Given the description of an element on the screen output the (x, y) to click on. 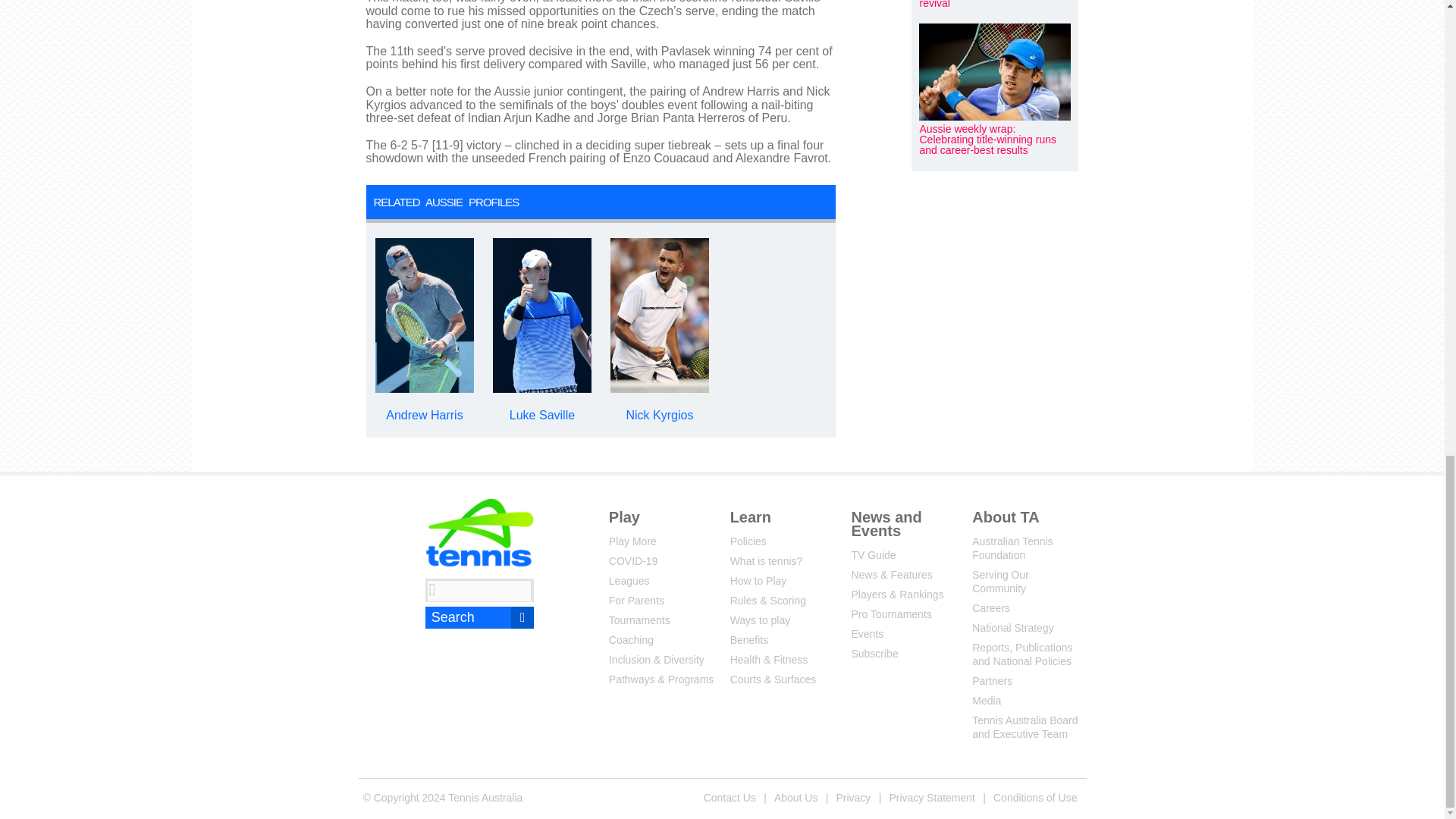
About Us (796, 797)
Privacy (853, 797)
Conditions Of Use (1035, 797)
Privacy Statement (931, 797)
Contact Us (729, 797)
